Given the description of an element on the screen output the (x, y) to click on. 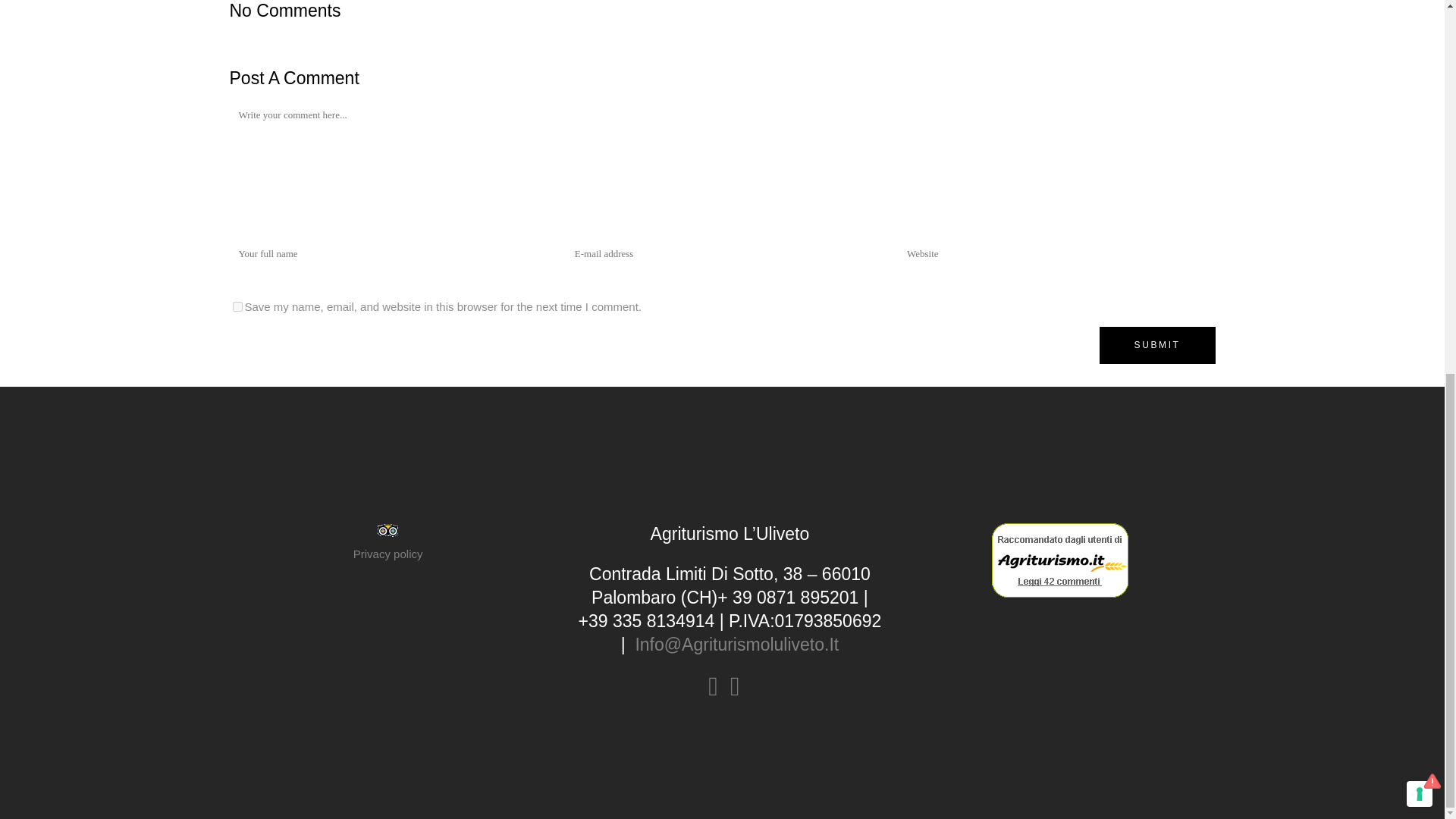
yes (236, 307)
Submit (1157, 344)
Agriturismi: L Uliveto, Palombaro (1059, 560)
Submit (1157, 344)
Privacy policy (388, 553)
Privacy policy (388, 553)
Agriturismo.it: L Uliveto, Palombaro (1059, 594)
